Given the description of an element on the screen output the (x, y) to click on. 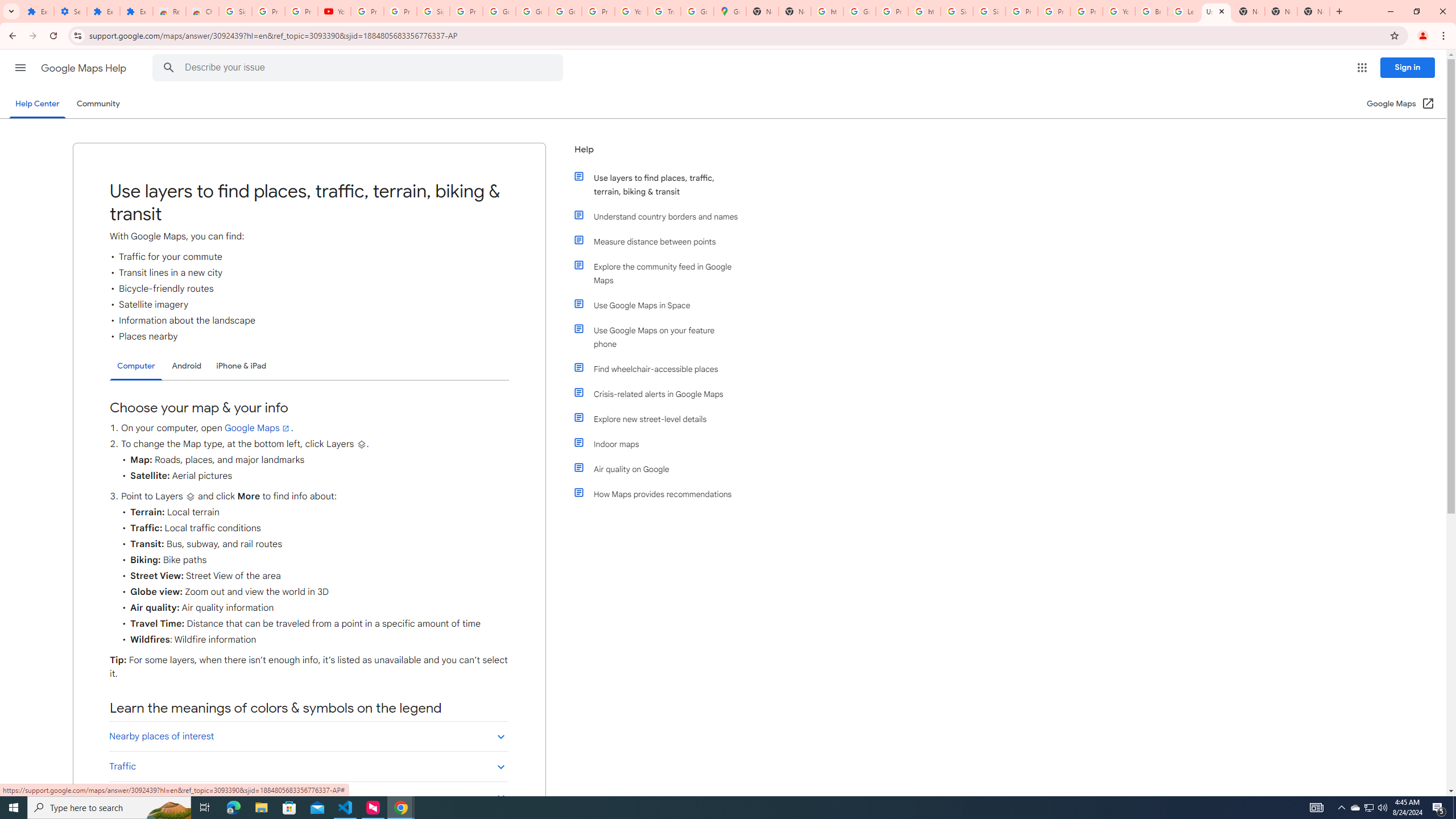
Extensions (136, 11)
Nearby places of interest (308, 736)
YouTube (631, 11)
Sign in - Google Accounts (433, 11)
YouTube (1118, 11)
Extensions (37, 11)
Google Account (532, 11)
Describe your issue (359, 67)
Public transit (308, 796)
YouTube (334, 11)
Air quality on Google (661, 469)
